Given the description of an element on the screen output the (x, y) to click on. 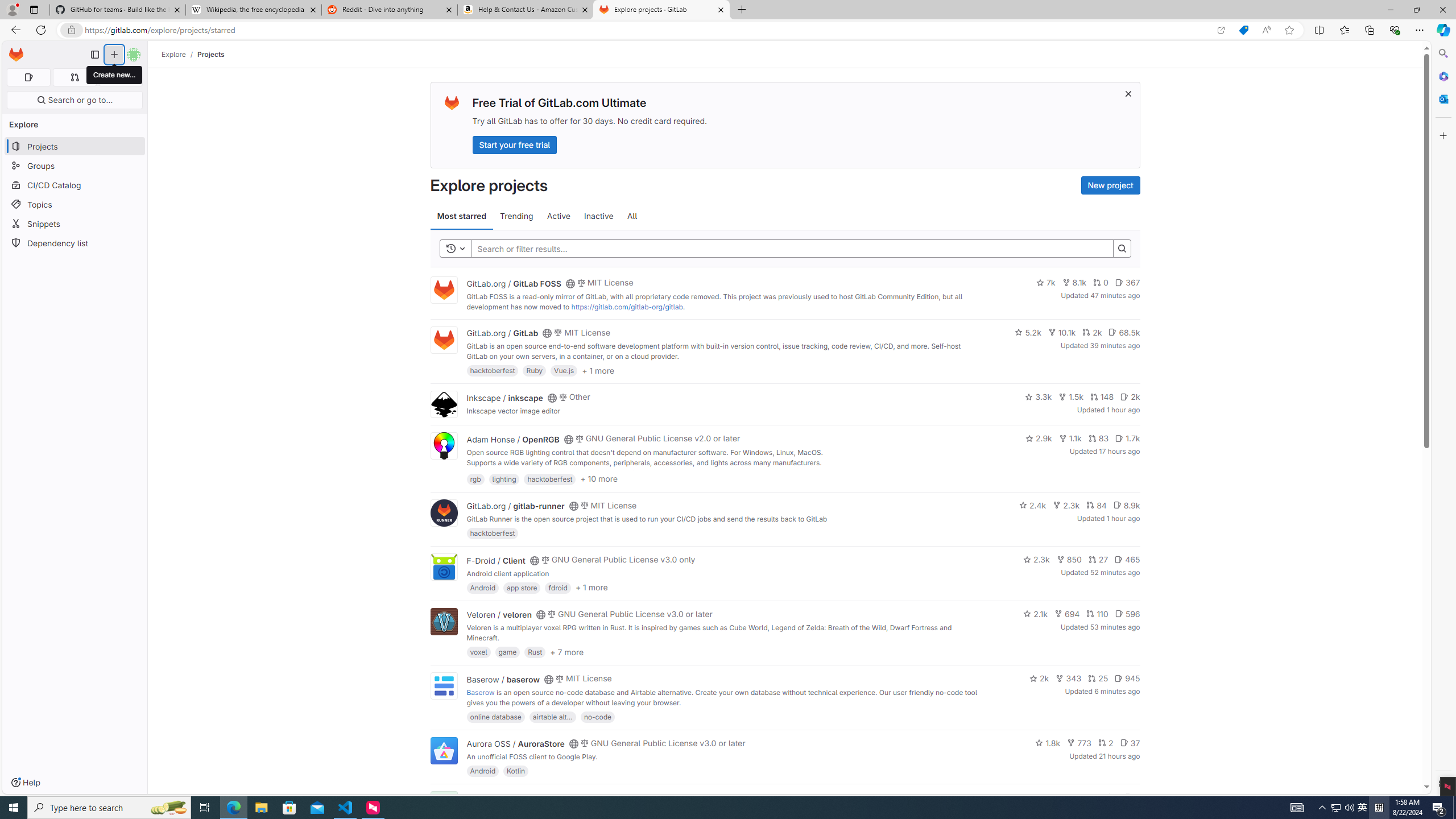
GitLab.org / GitLab (501, 333)
27 (1097, 559)
Aurora OSS / AuroraStore (514, 743)
10.1k (1061, 331)
Baserow / baserow (502, 678)
367 (1127, 282)
68.5k (1124, 331)
2.4k (1032, 504)
Snippets (74, 223)
Help & Contact Us - Amazon Customer Service (525, 9)
Shopping in Microsoft Edge (1243, 29)
